Given the description of an element on the screen output the (x, y) to click on. 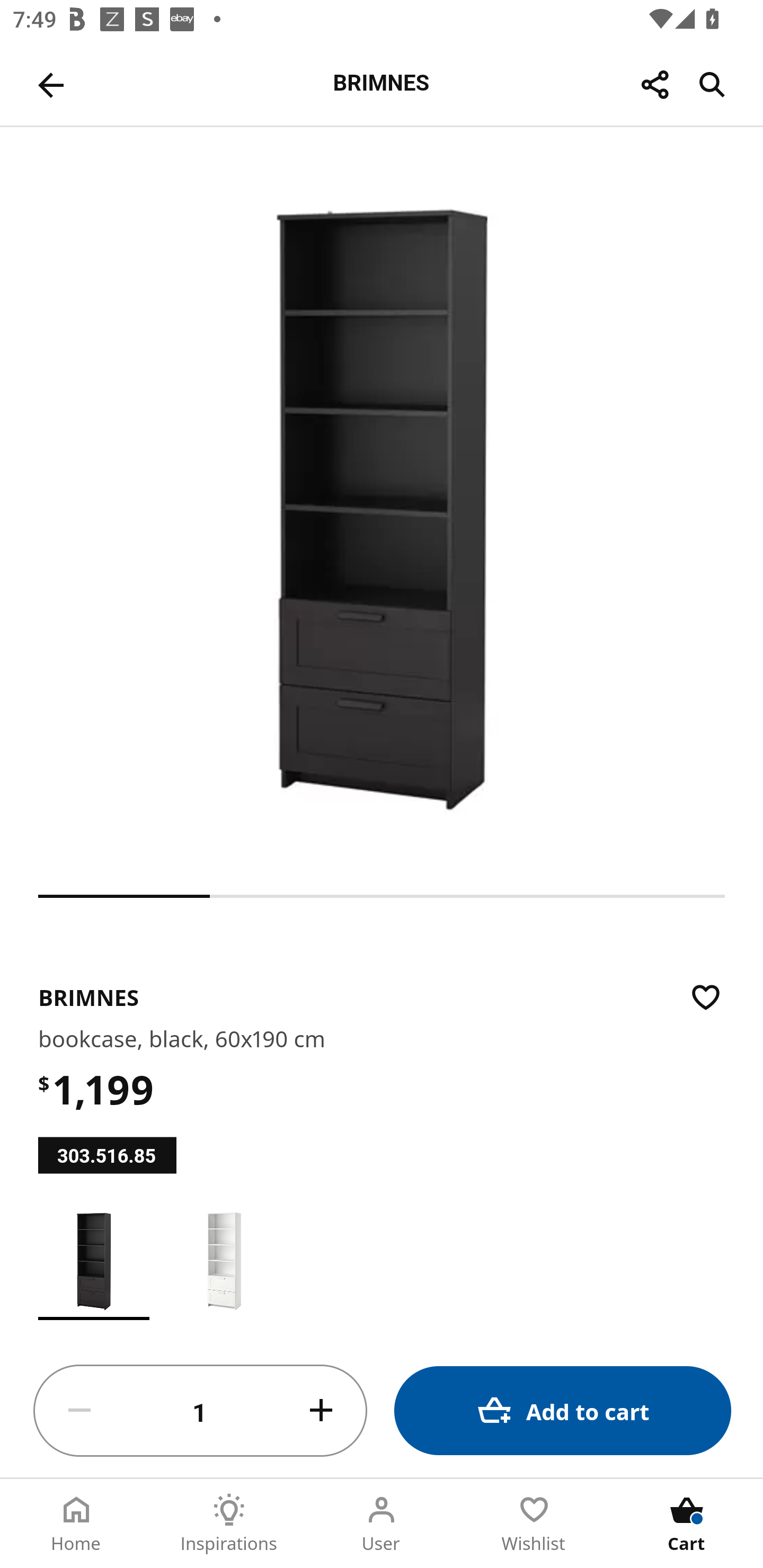
Add to cart (562, 1410)
1 (200, 1411)
Home
Tab 1 of 5 (76, 1522)
Inspirations
Tab 2 of 5 (228, 1522)
User
Tab 3 of 5 (381, 1522)
Wishlist
Tab 4 of 5 (533, 1522)
Cart
Tab 5 of 5 (686, 1522)
